Given the description of an element on the screen output the (x, y) to click on. 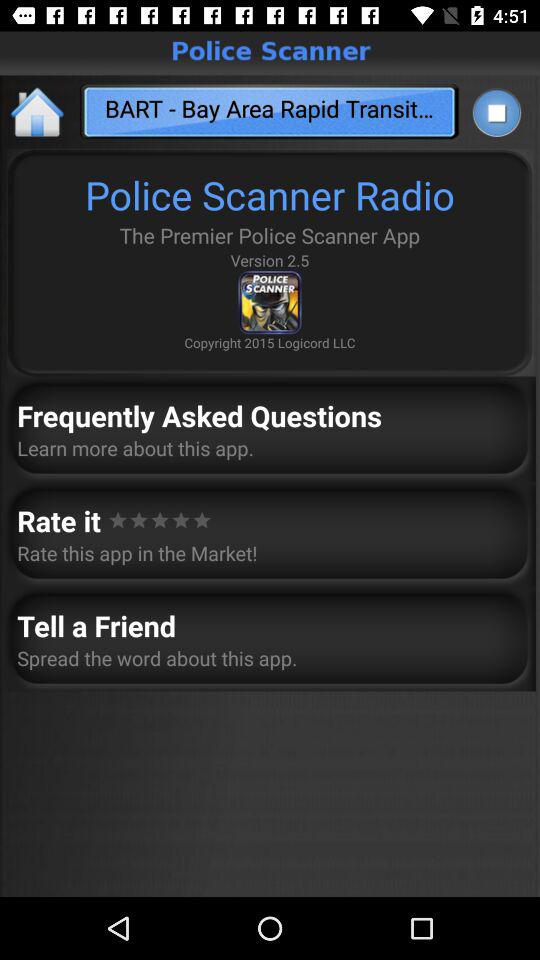
turn on the item at the top left corner (38, 111)
